Given the description of an element on the screen output the (x, y) to click on. 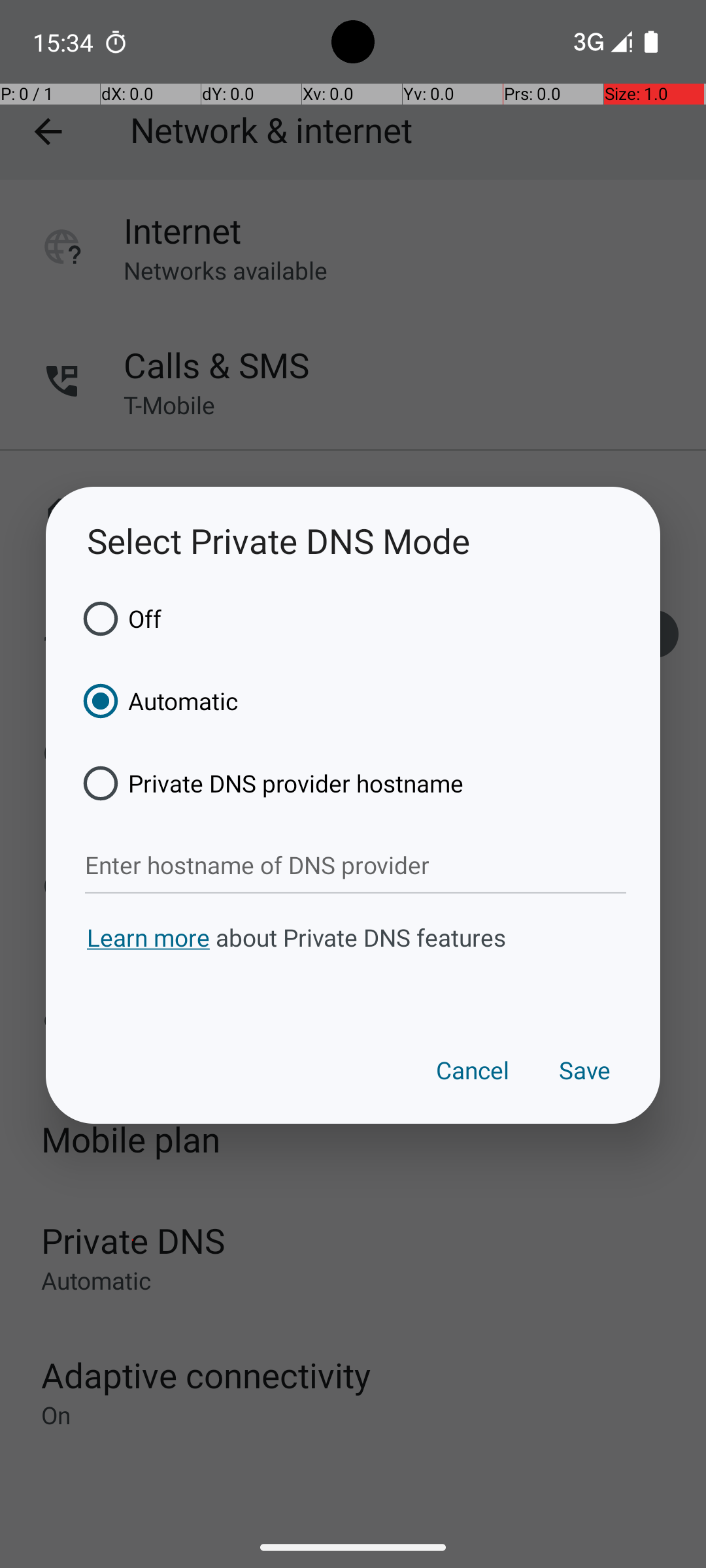
Select Private DNS Mode Element type: android.widget.TextView (352, 540)
Learn more about Private DNS features Element type: android.widget.TextView (352, 961)
Private DNS provider hostname Element type: android.widget.RadioButton (268, 783)
Enter hostname of DNS provider Element type: android.widget.EditText (355, 865)
